Given the description of an element on the screen output the (x, y) to click on. 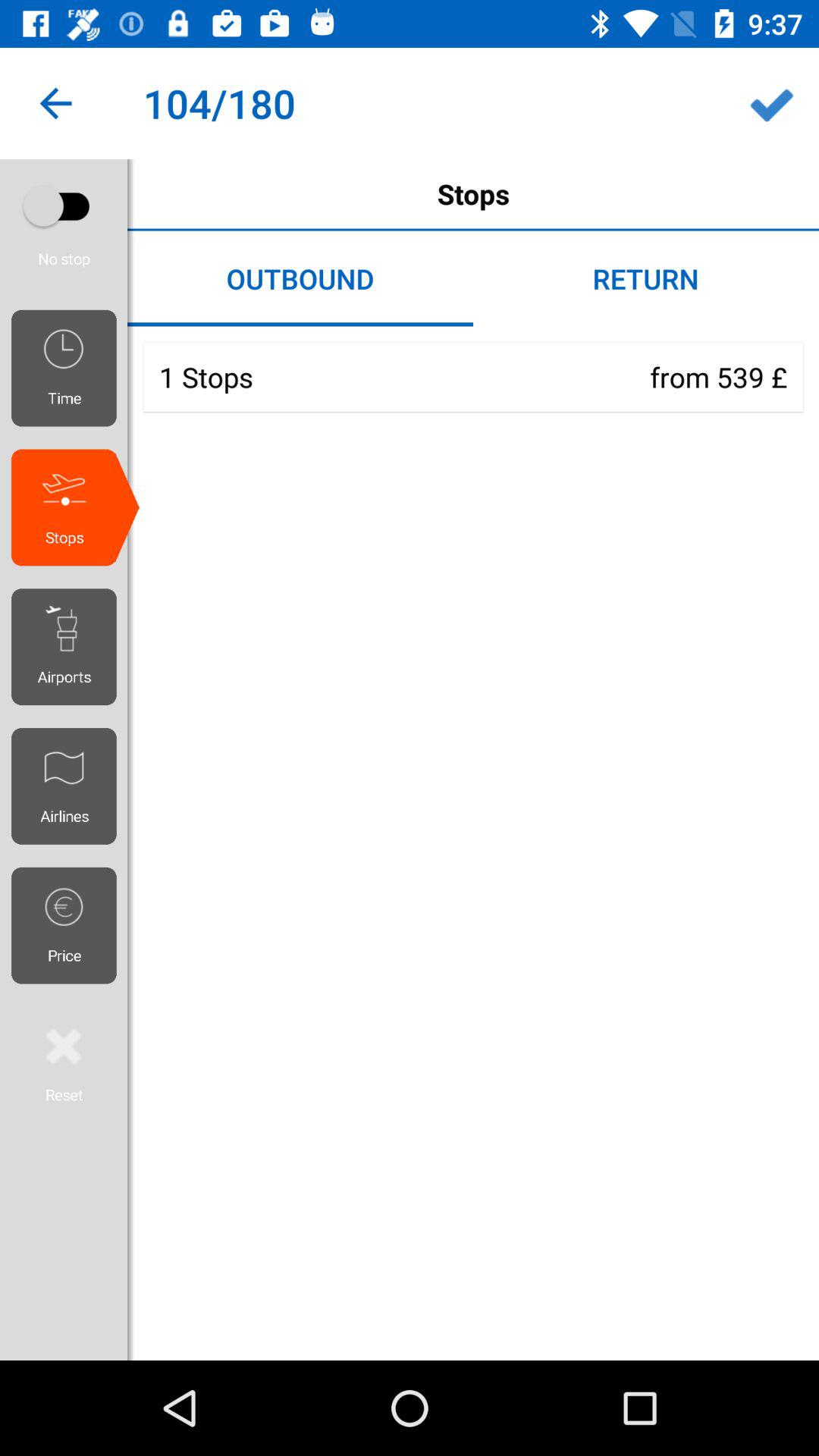
flip until airports (69, 646)
